Given the description of an element on the screen output the (x, y) to click on. 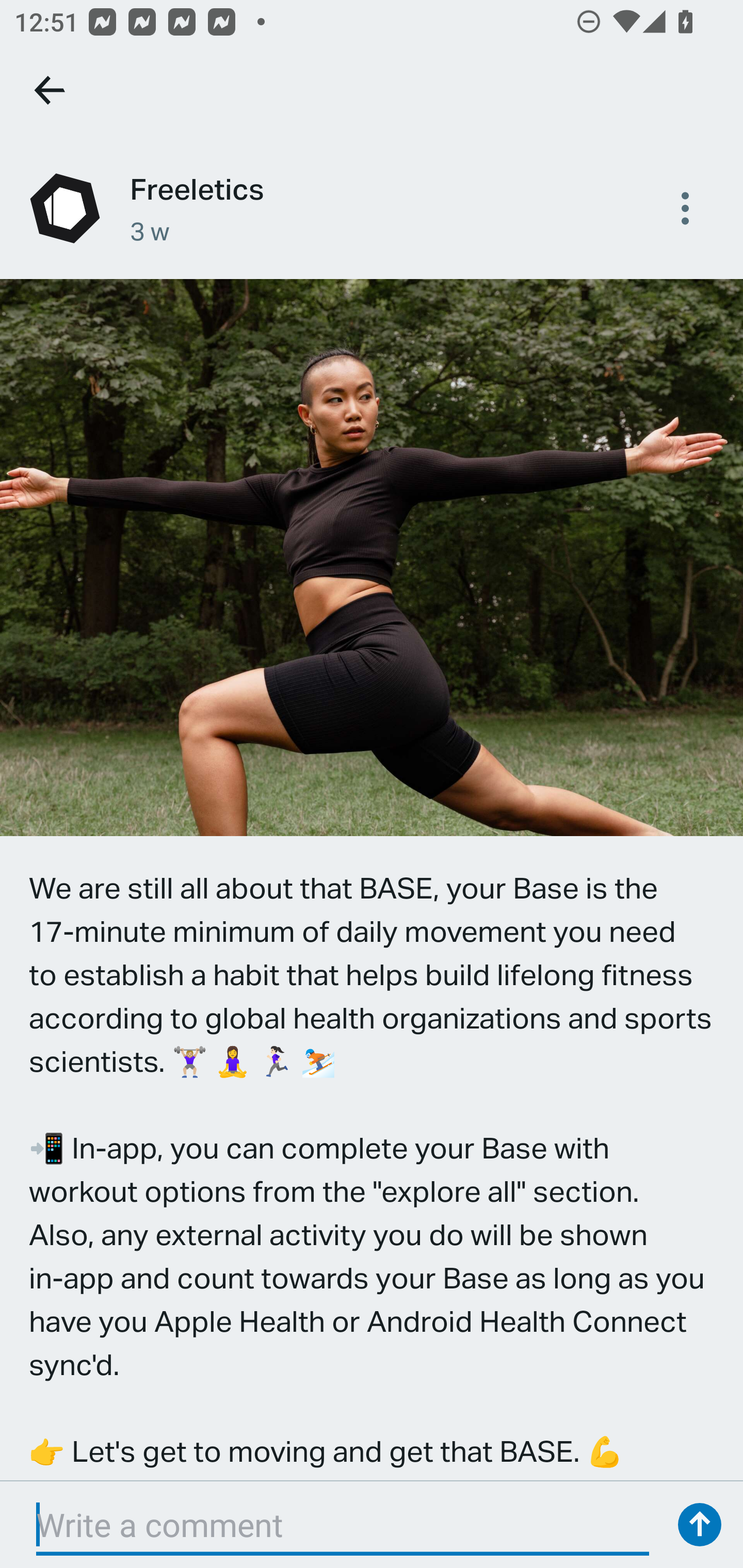
Go back (50, 90)
Freeletics  3 w (371, 208)
Write a comment (342, 1524)
Send (699, 1524)
